Given the description of an element on the screen output the (x, y) to click on. 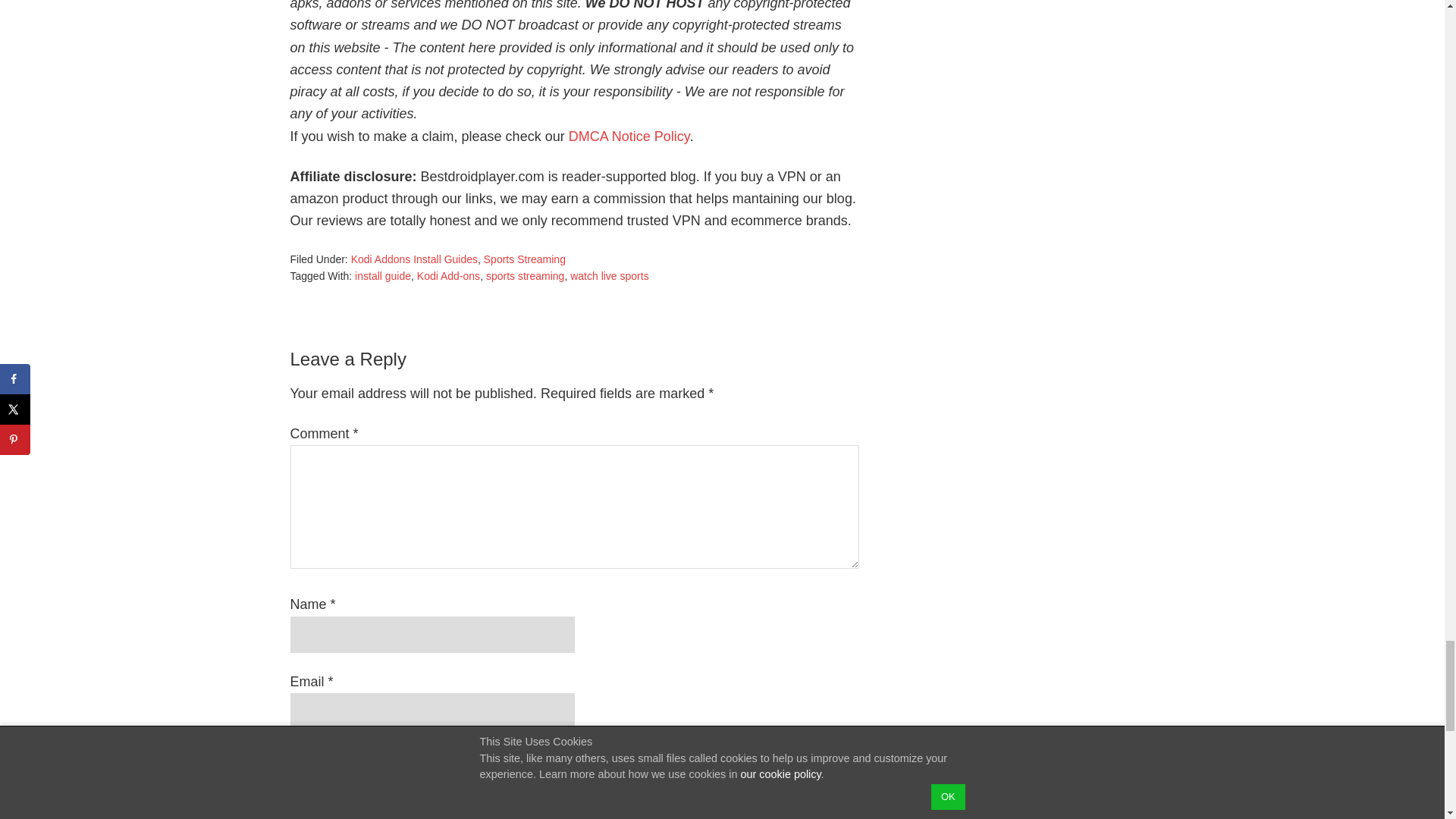
Post Comment (350, 765)
